Given the description of an element on the screen output the (x, y) to click on. 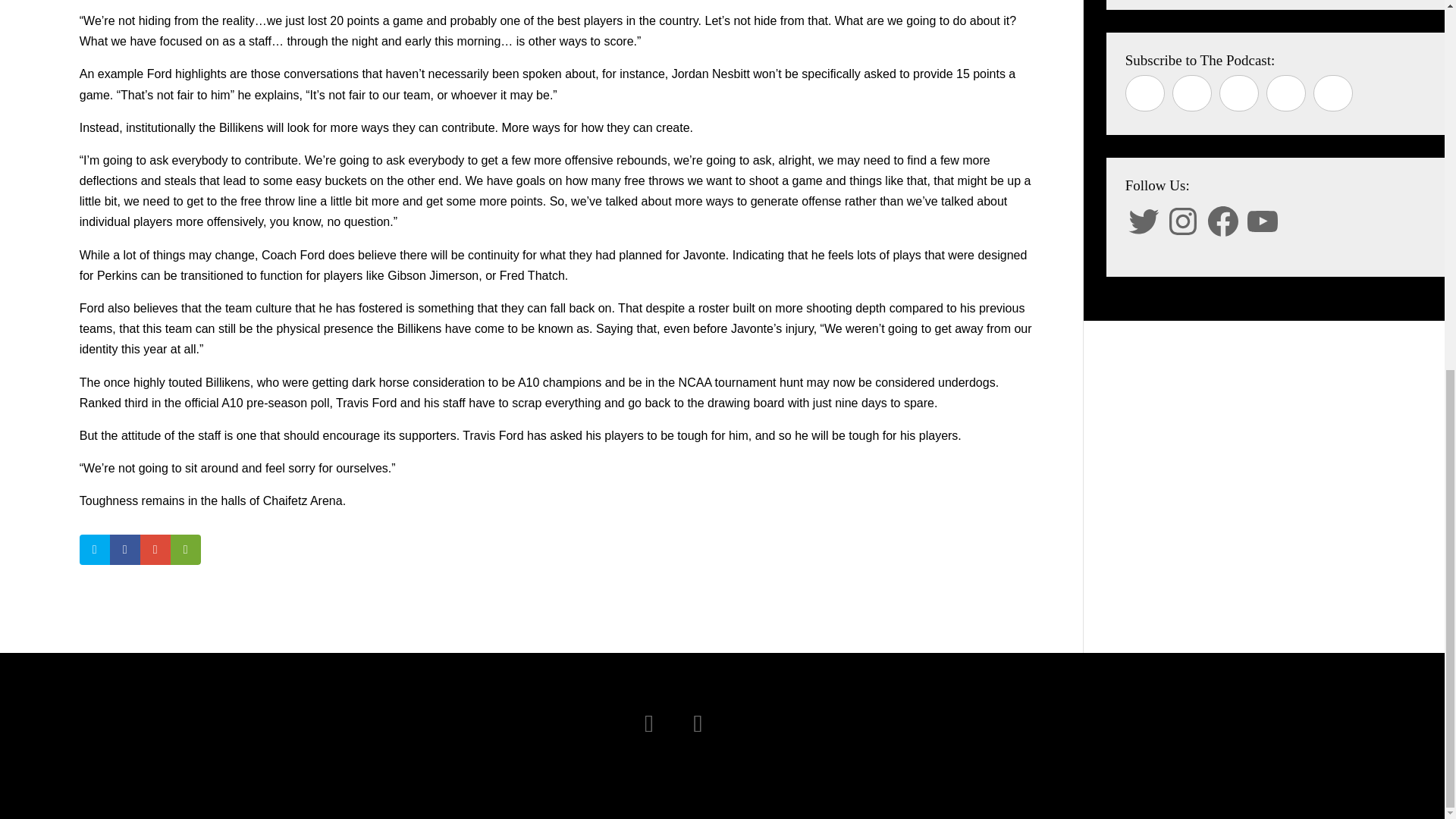
Subscribe on Android (1286, 93)
Facebook (1223, 221)
Subscribe on Spotify (1191, 93)
Subscribe on Amazon Music (1239, 93)
Instagram (1182, 221)
YouTube (1262, 221)
Twitter (1143, 221)
More Subscribe Options (1332, 93)
Subscribe on Apple Podcasts (1144, 93)
